Given the description of an element on the screen output the (x, y) to click on. 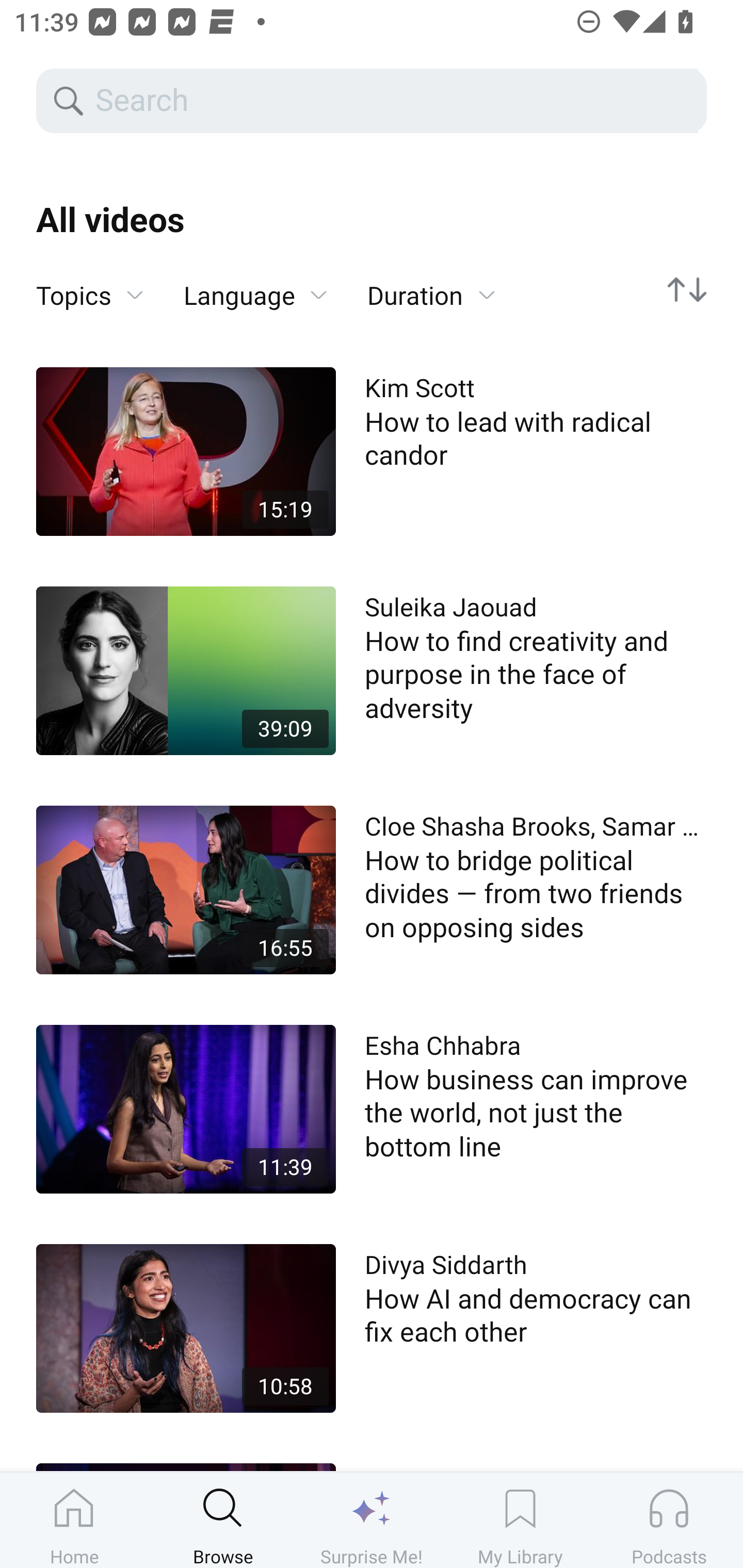
Search (395, 100)
Topics (90, 295)
Language (255, 295)
Duration (431, 295)
15:19 Kim Scott How to lead with radical candor (371, 451)
Home (74, 1520)
Browse (222, 1520)
Surprise Me! (371, 1520)
My Library (519, 1520)
Podcasts (668, 1520)
